Given the description of an element on the screen output the (x, y) to click on. 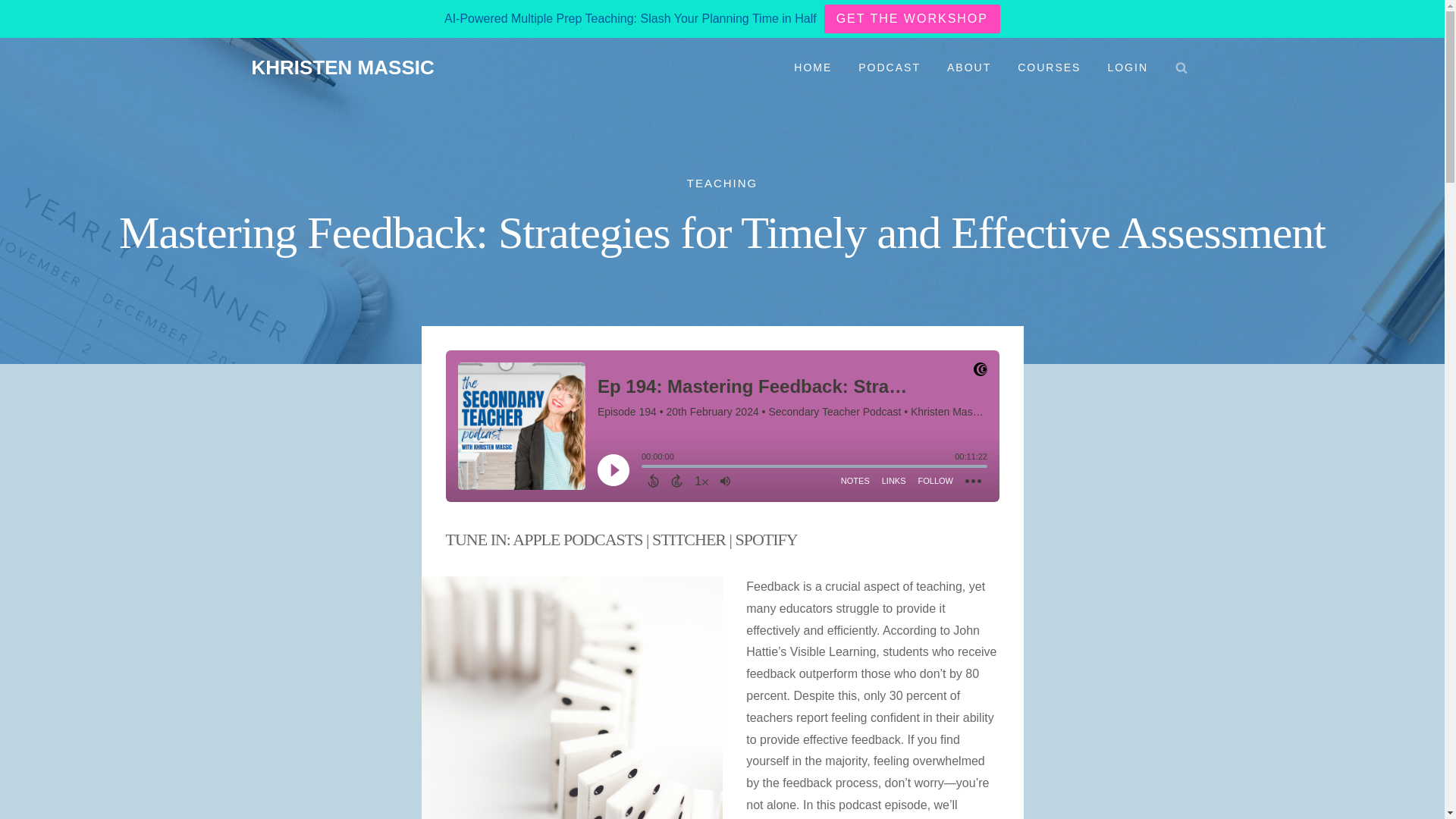
TEACHING (722, 182)
GET THE WORKSHOP (912, 18)
LOGIN (1127, 67)
PODCAST (889, 67)
ABOUT (968, 67)
HOME (812, 67)
STITCHER (688, 538)
KHRISTEN MASSIC (342, 67)
SPOTIFY (765, 538)
COURSES (1049, 67)
APPLE PODCASTS (577, 538)
